Given the description of an element on the screen output the (x, y) to click on. 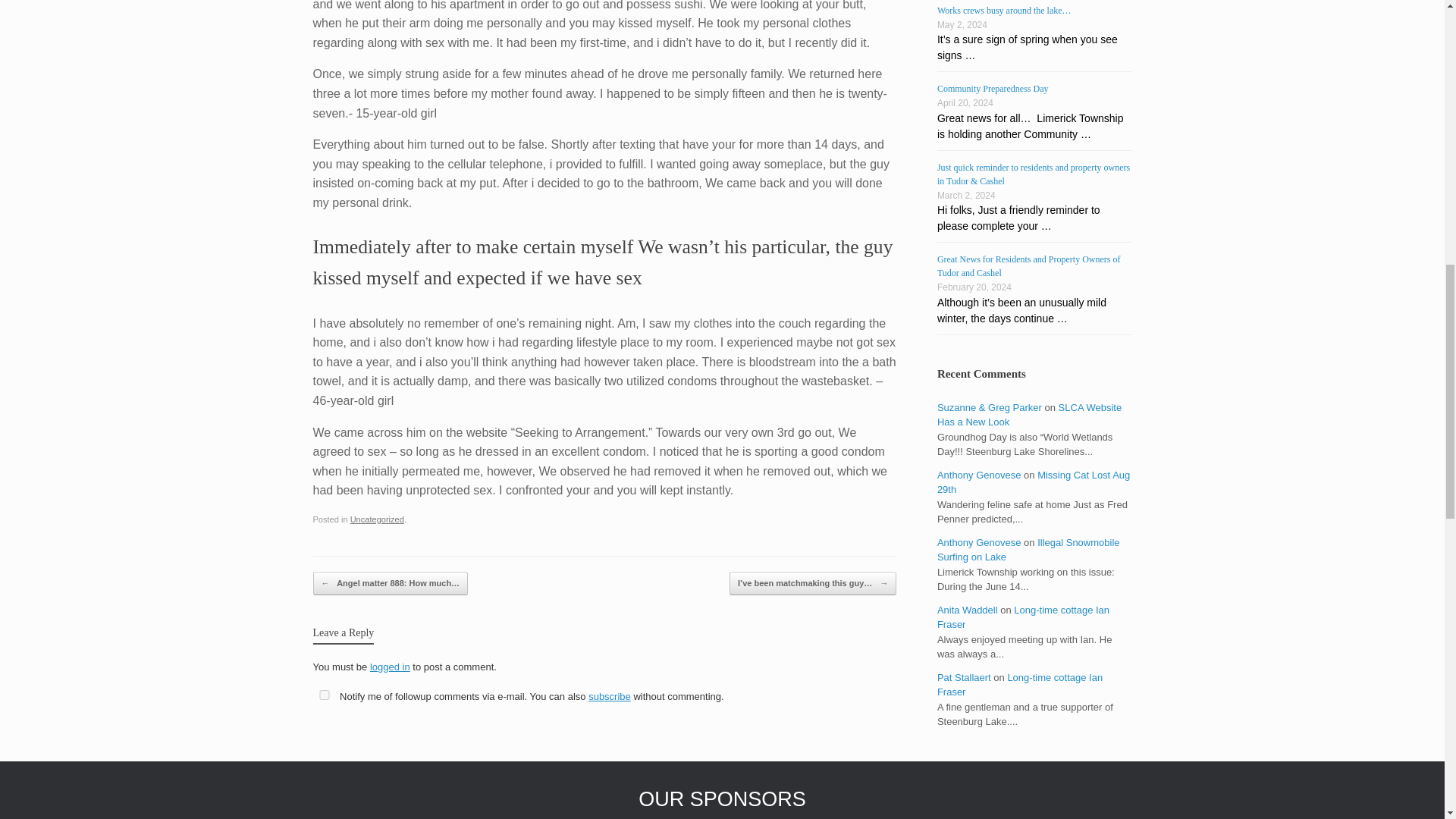
yes (323, 695)
